Given the description of an element on the screen output the (x, y) to click on. 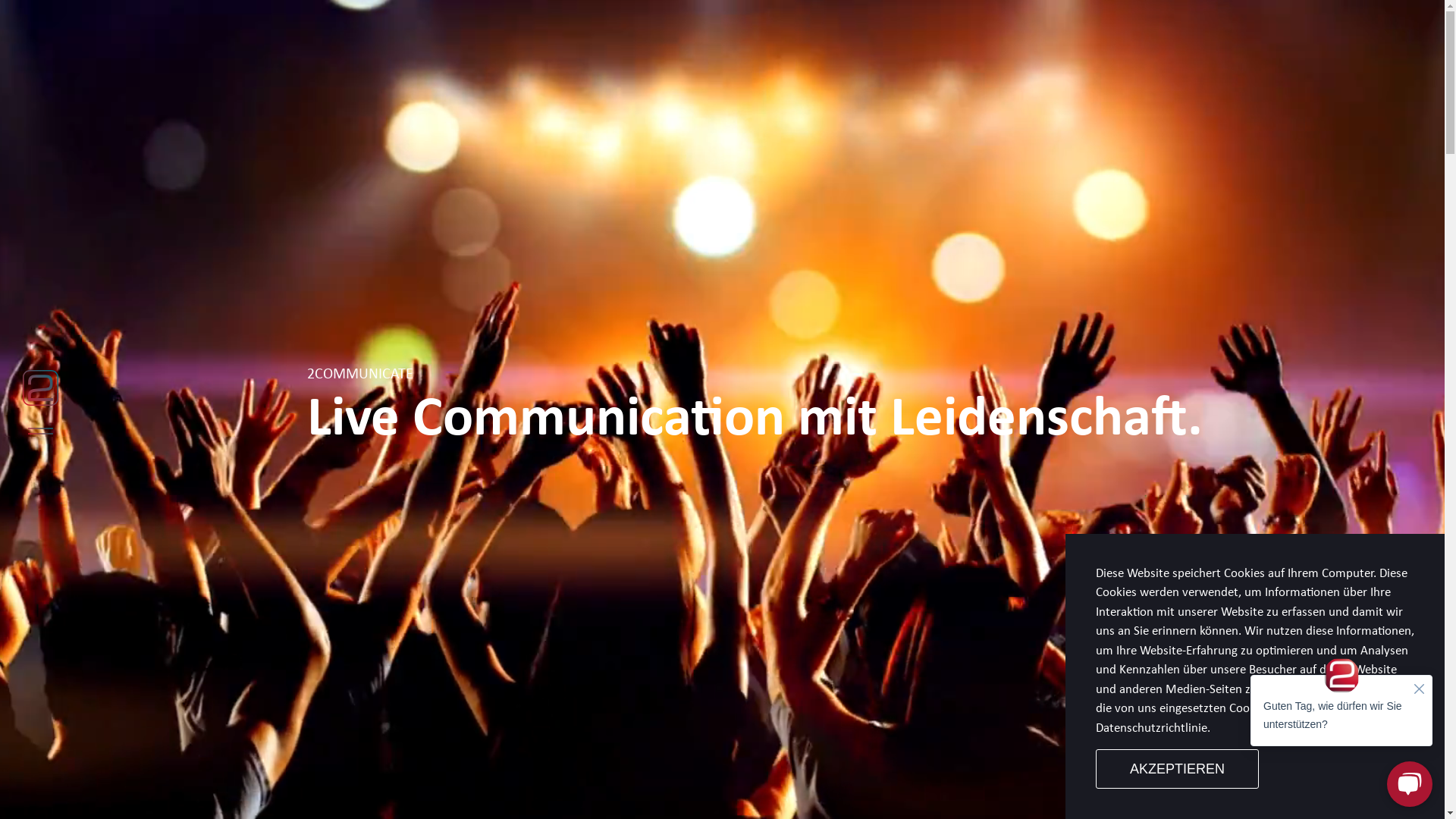
2Communicate_color_rgb_outline-1 Element type: hover (40, 387)
AKZEPTIEREN Element type: text (1176, 768)
